Given the description of an element on the screen output the (x, y) to click on. 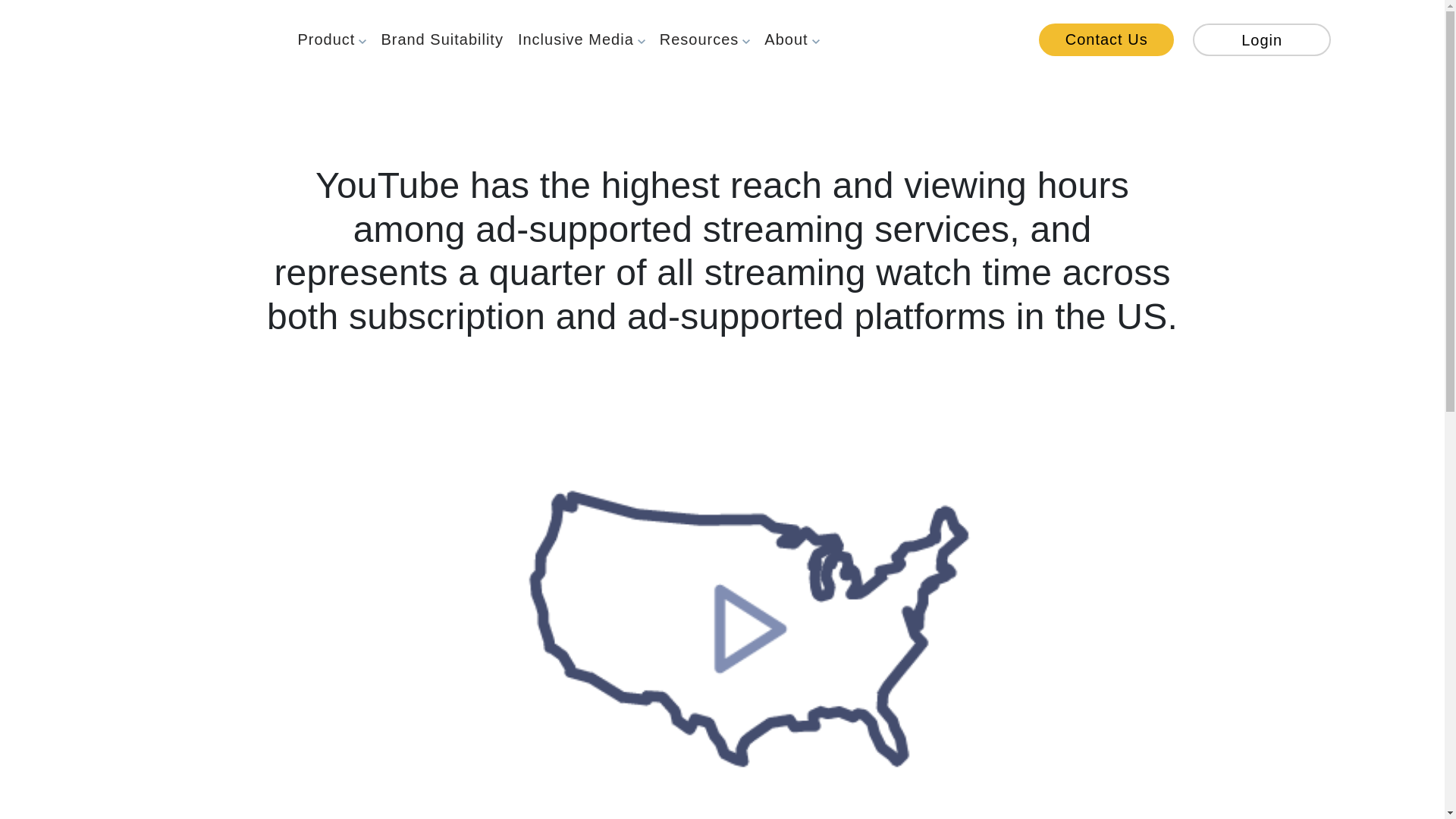
Contact Us (1106, 38)
Brand Suitability (442, 43)
Login (1261, 38)
Resources (704, 43)
Pixability (170, 39)
Inclusive Media (581, 43)
Product (331, 43)
